Given the description of an element on the screen output the (x, y) to click on. 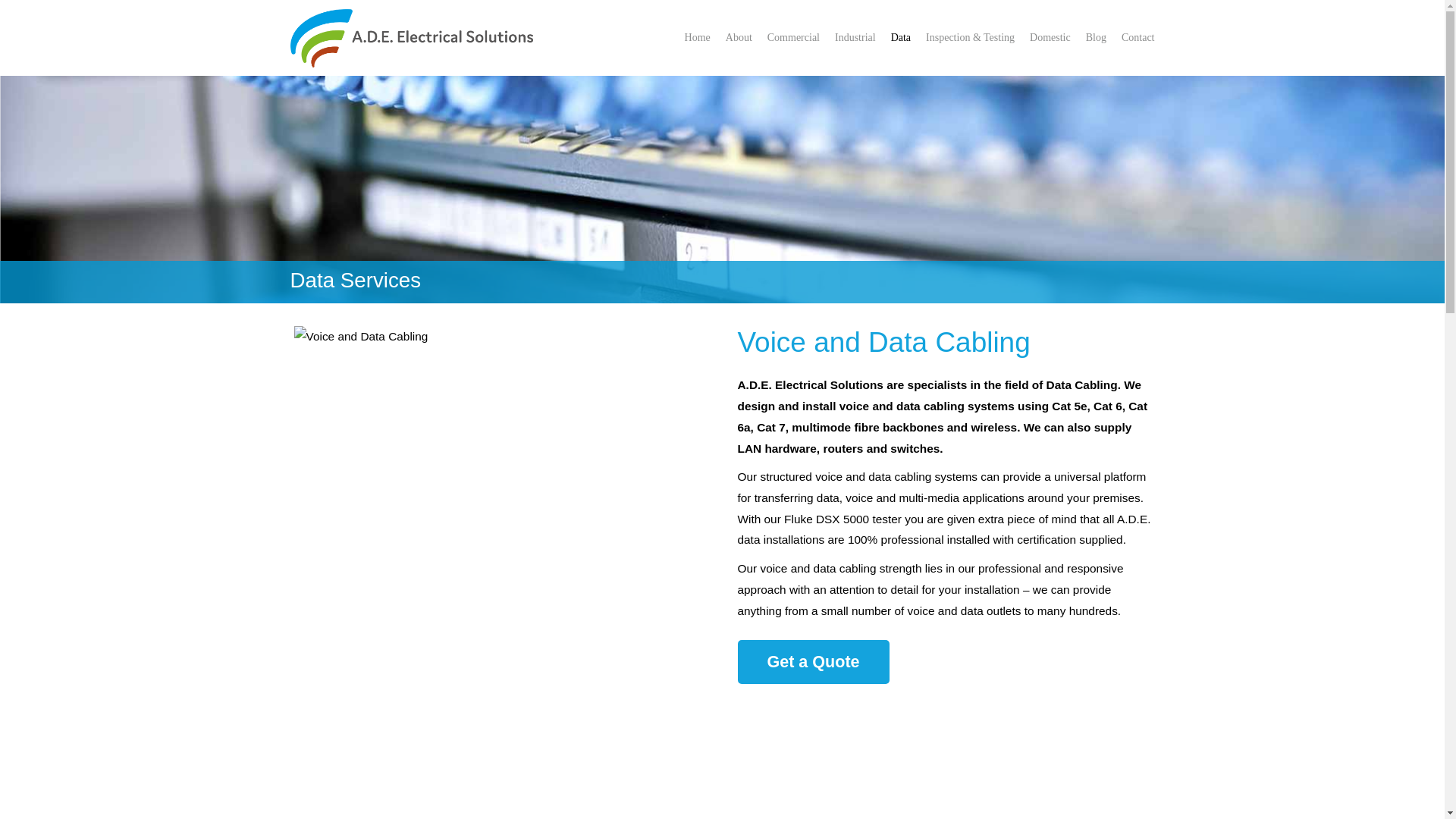
About (738, 37)
Industrial (855, 37)
Commercial (793, 37)
Home (697, 37)
Data (900, 37)
